Given the description of an element on the screen output the (x, y) to click on. 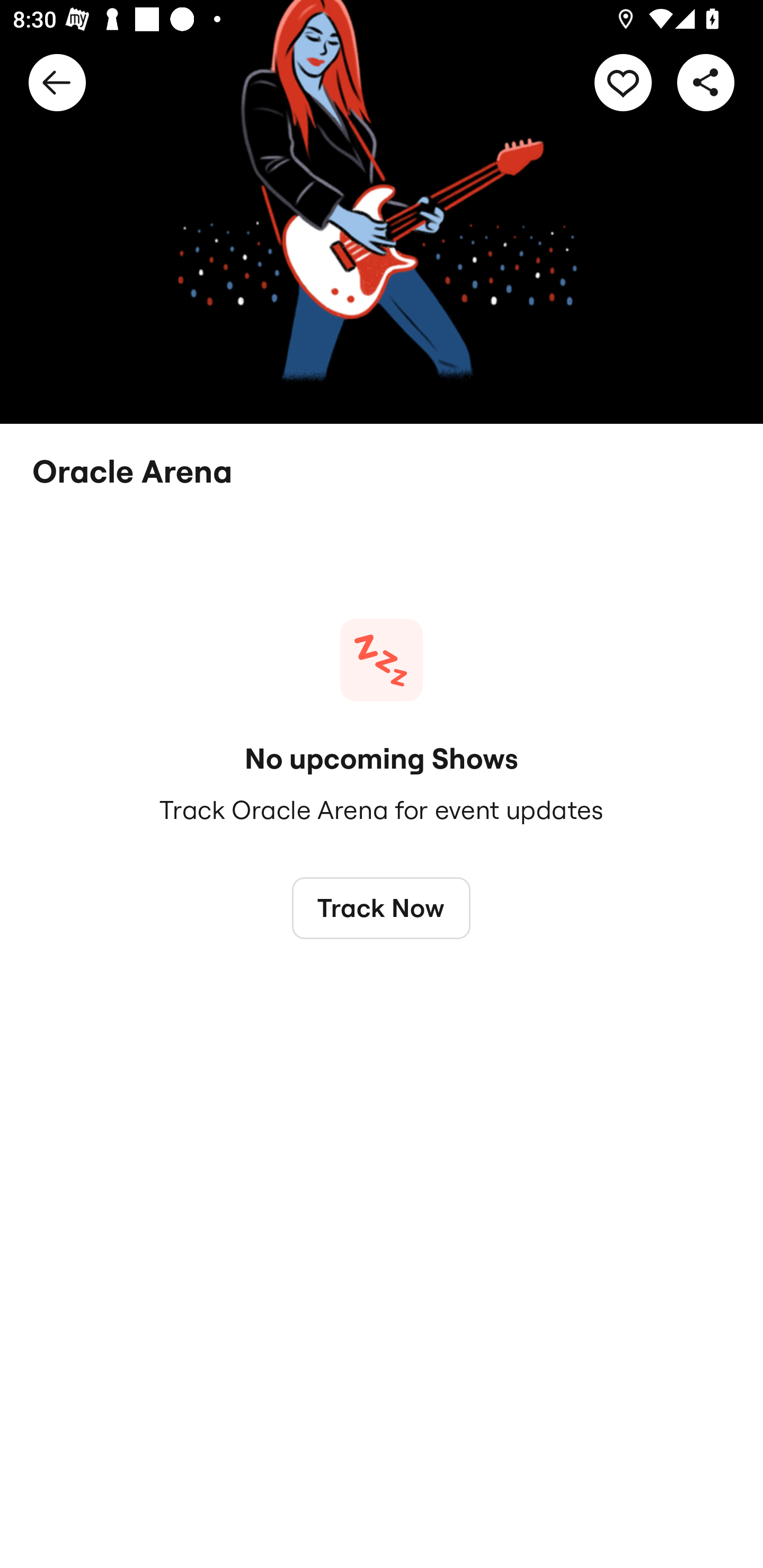
Back (57, 81)
Track this performer (623, 81)
Share this performer (705, 81)
Track Now (381, 907)
